Given the description of an element on the screen output the (x, y) to click on. 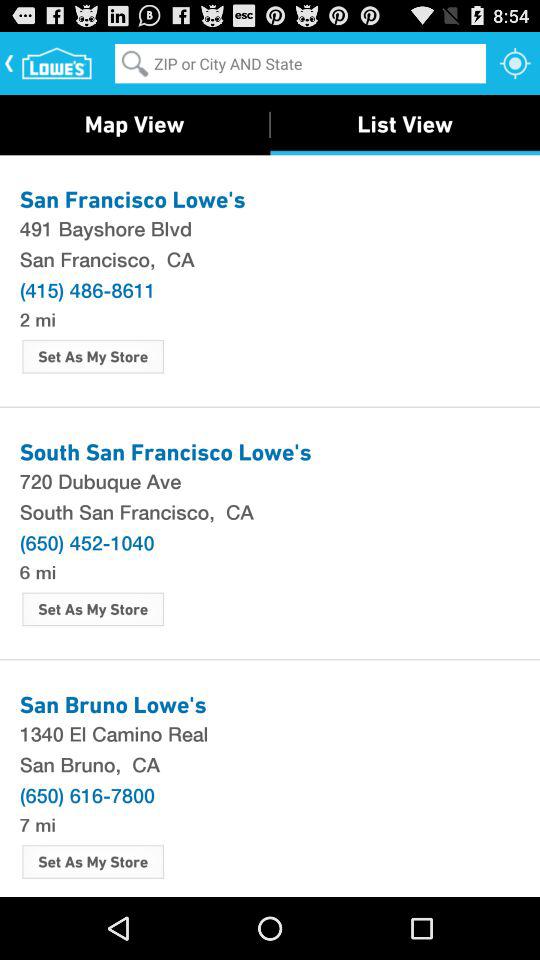
tap the item above san bruno,  ca item (269, 733)
